Given the description of an element on the screen output the (x, y) to click on. 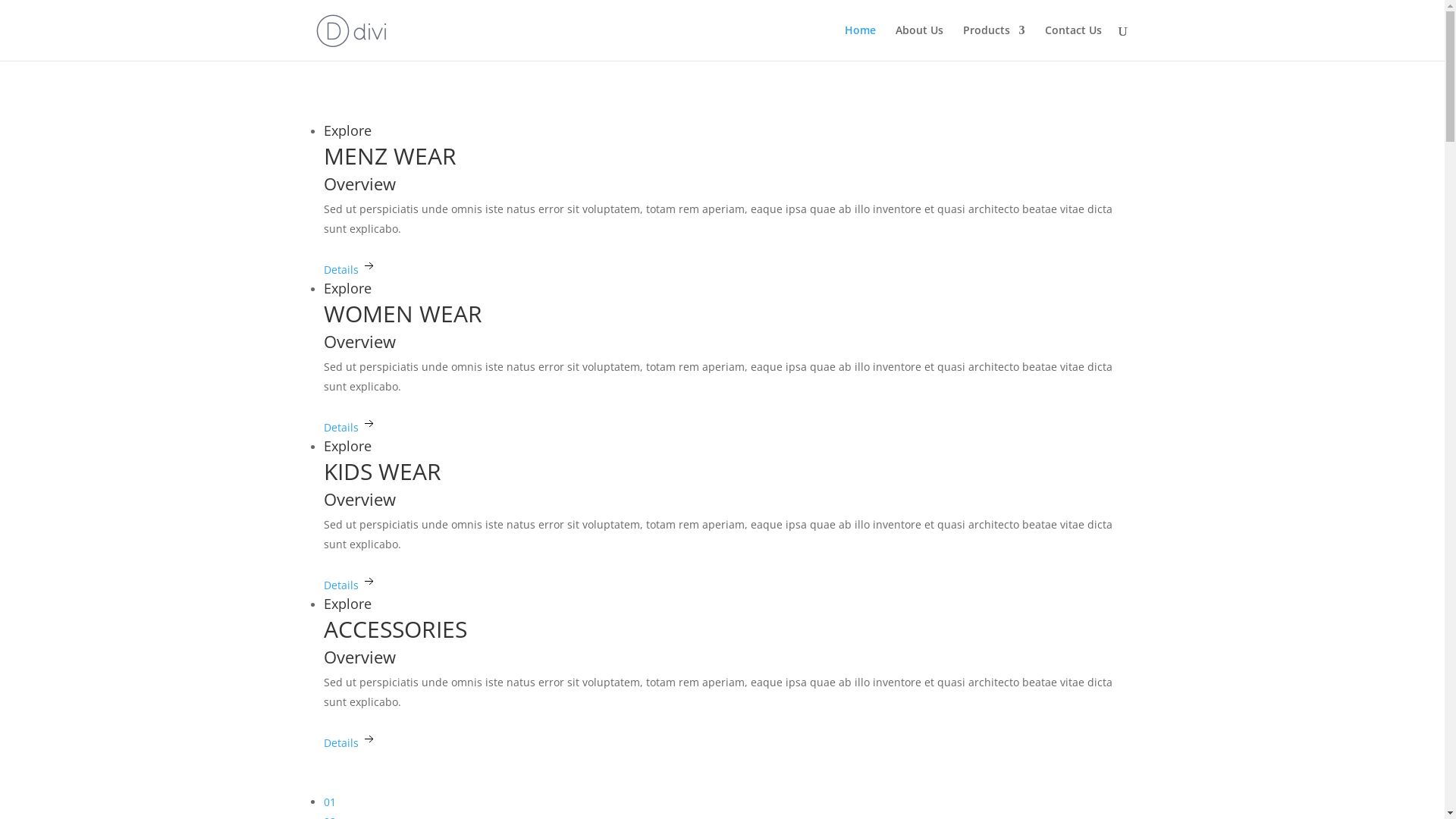
About Us Element type: text (918, 42)
Details Element type: text (349, 280)
Home Element type: text (859, 42)
Details Element type: text (349, 753)
Details Element type: text (349, 437)
Contact Us Element type: text (1072, 42)
01 Element type: text (329, 801)
Products Element type: text (994, 42)
Details Element type: text (349, 595)
